Given the description of an element on the screen output the (x, y) to click on. 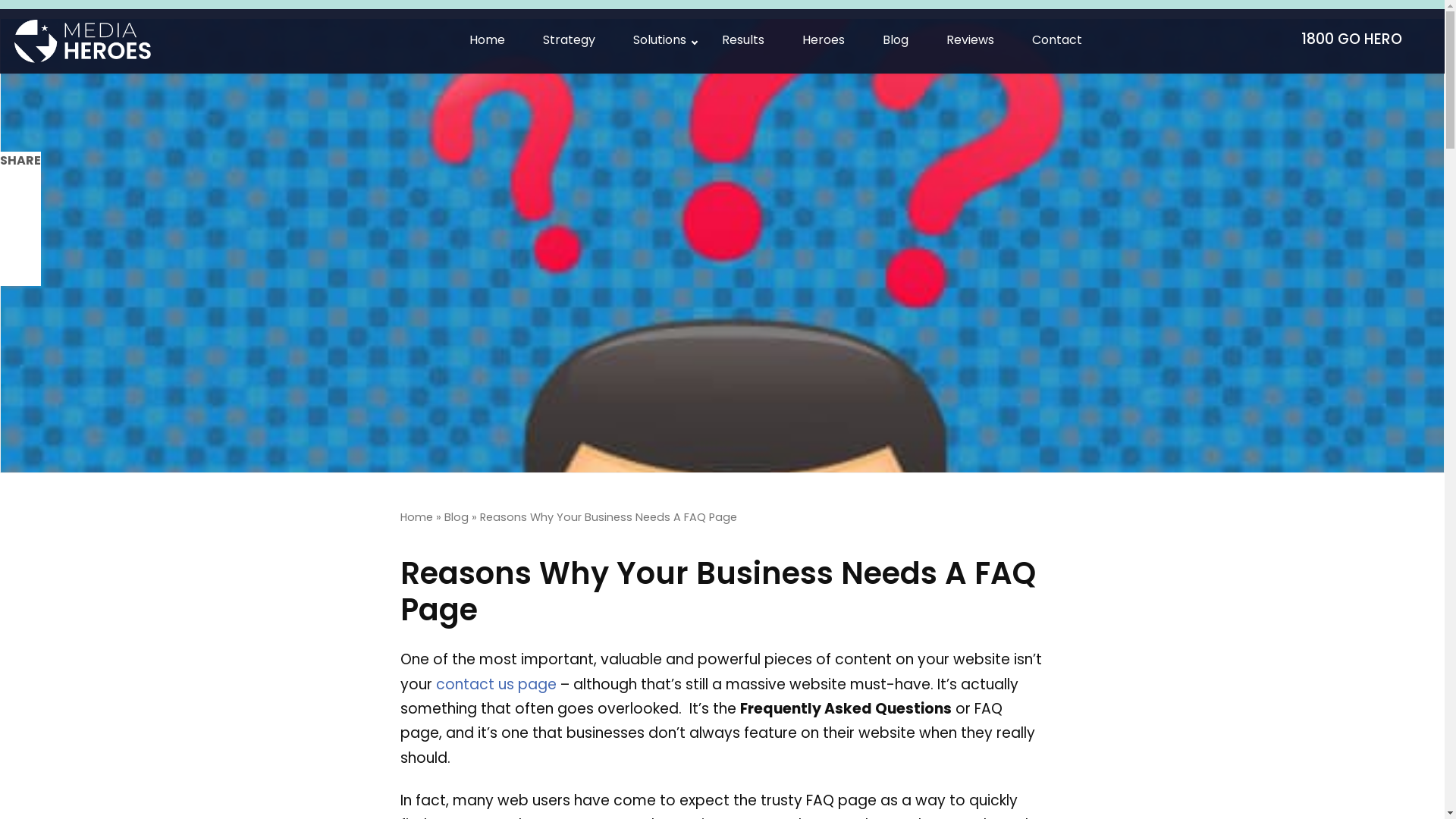
Contact Element type: text (1057, 41)
Blog Element type: text (895, 41)
Blog Element type: text (456, 518)
contact us page Element type: text (495, 685)
Reviews Element type: text (970, 41)
1800 GO HERO Element type: text (1358, 40)
Solutions Element type: text (658, 41)
Heroes Element type: text (823, 41)
Home Element type: text (416, 518)
Results Element type: text (742, 41)
Strategy Element type: text (569, 41)
Home Element type: text (487, 41)
